Given the description of an element on the screen output the (x, y) to click on. 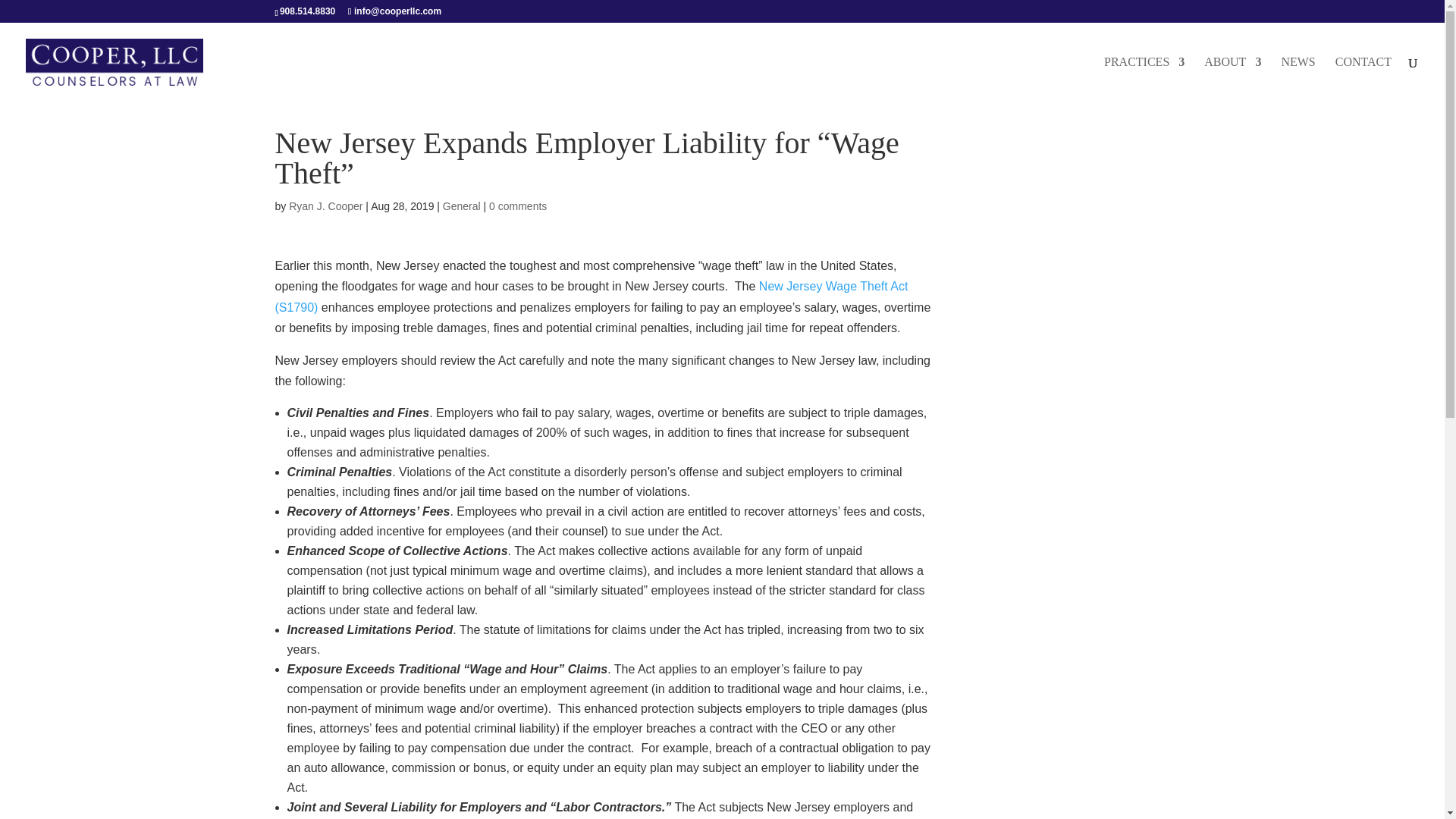
PRACTICES (1144, 78)
CONTACT (1363, 78)
Posts by Ryan J. Cooper (325, 205)
General (461, 205)
0 comments (518, 205)
Ryan J. Cooper (325, 205)
ABOUT (1232, 78)
